Given the description of an element on the screen output the (x, y) to click on. 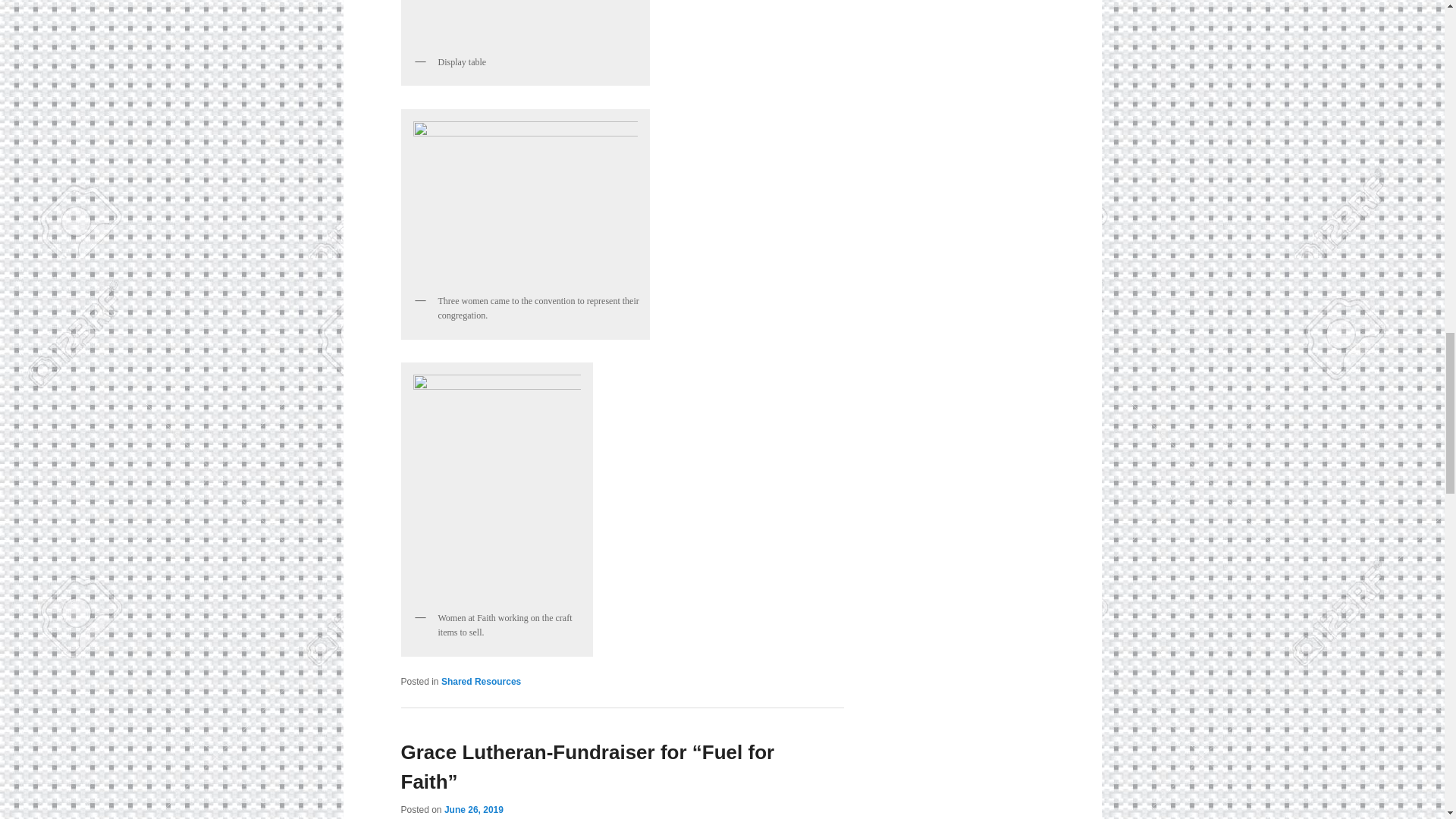
Shared Resources (481, 681)
June 26, 2019 (473, 809)
11:32 AM (473, 809)
